Given the description of an element on the screen output the (x, y) to click on. 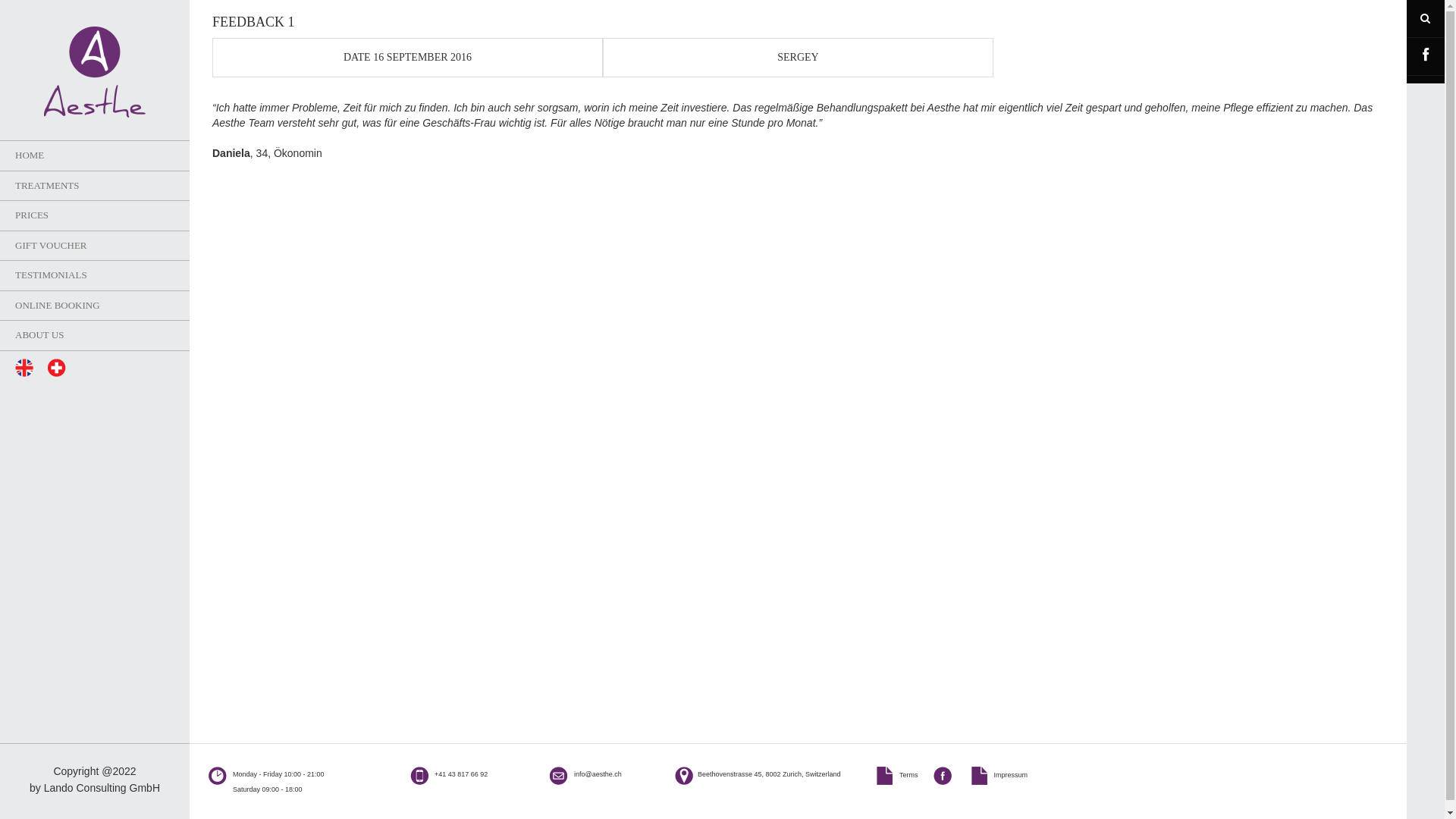
PRICES Element type: text (94, 215)
HOME Element type: text (94, 155)
GIFT VOUCHER Element type: text (94, 245)
TREATMENTS Element type: text (94, 185)
German Element type: hover (56, 367)
ONLINE BOOKING Element type: text (94, 305)
TESTIMONIALS Element type: text (94, 275)
ABOUT US Element type: text (94, 335)
English Element type: hover (24, 367)
